Given the description of an element on the screen output the (x, y) to click on. 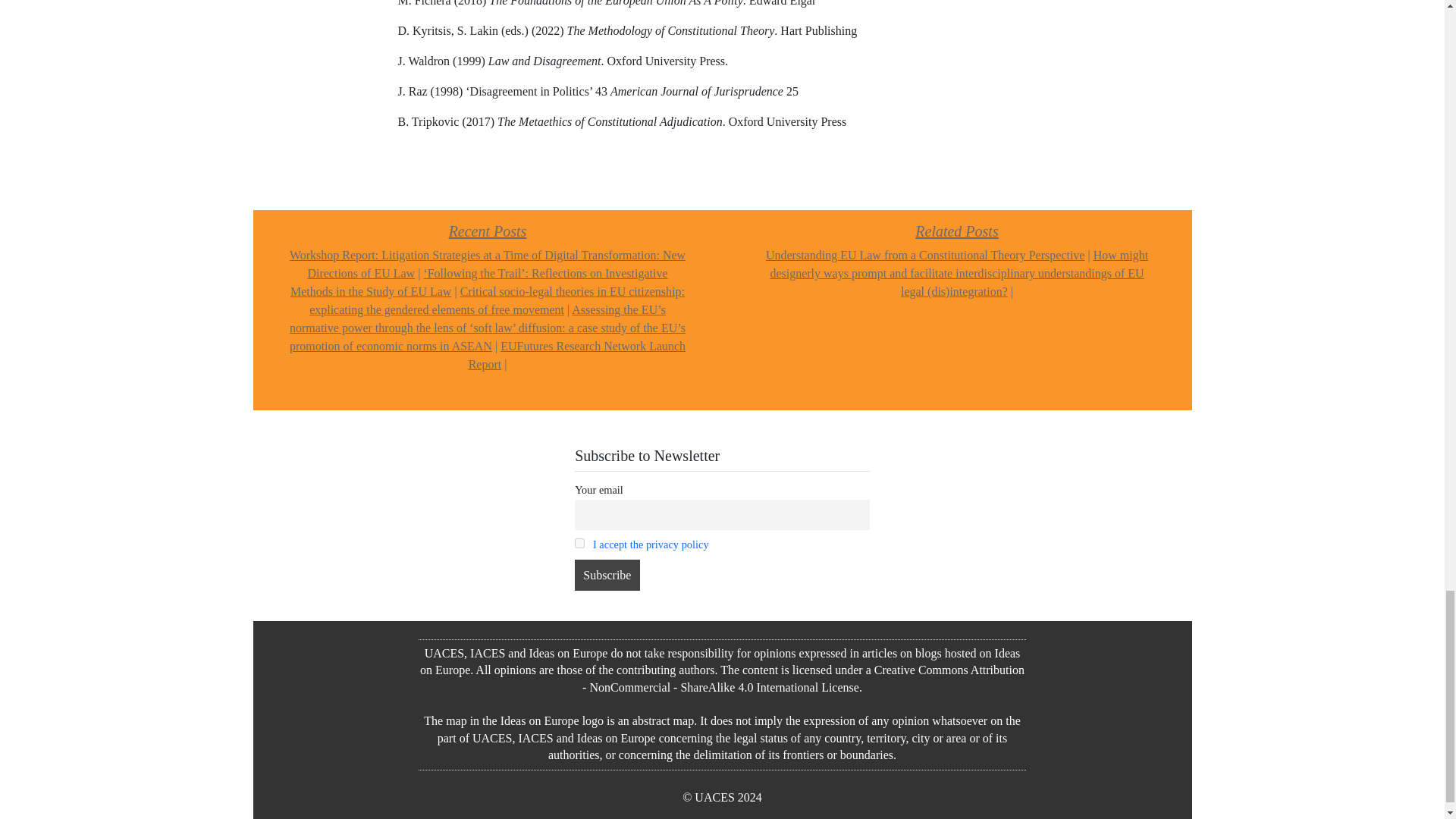
on (580, 542)
Subscribe (607, 574)
